Given the description of an element on the screen output the (x, y) to click on. 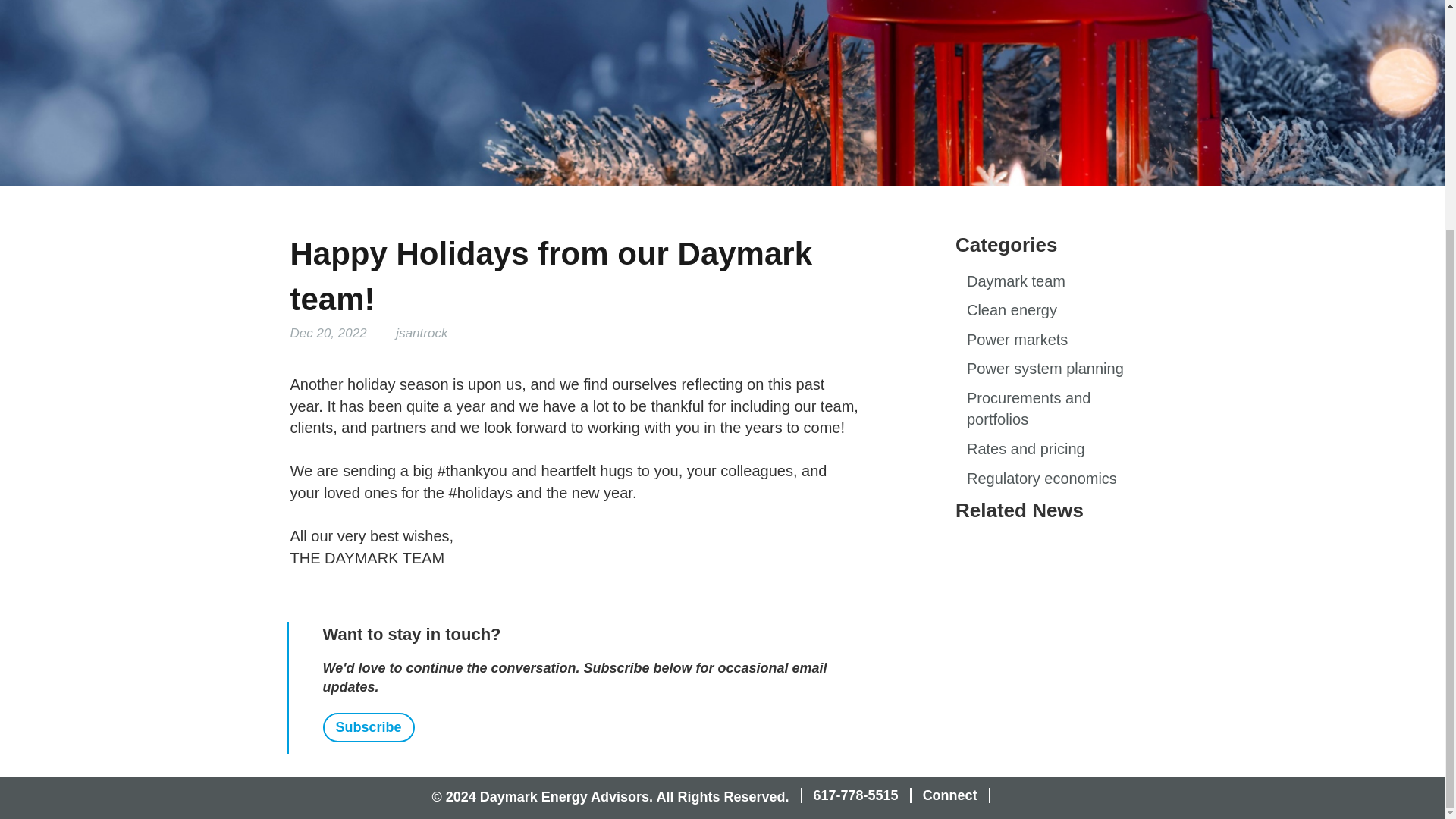
Subscribe (368, 727)
617-778-5515 (855, 795)
Clean energy (1011, 310)
Rates and pricing (1025, 448)
Power markets (1016, 339)
Regulatory economics (1041, 478)
Power system planning (1045, 368)
Procurements and portfolios (1028, 408)
Daymark team (1015, 280)
